Given the description of an element on the screen output the (x, y) to click on. 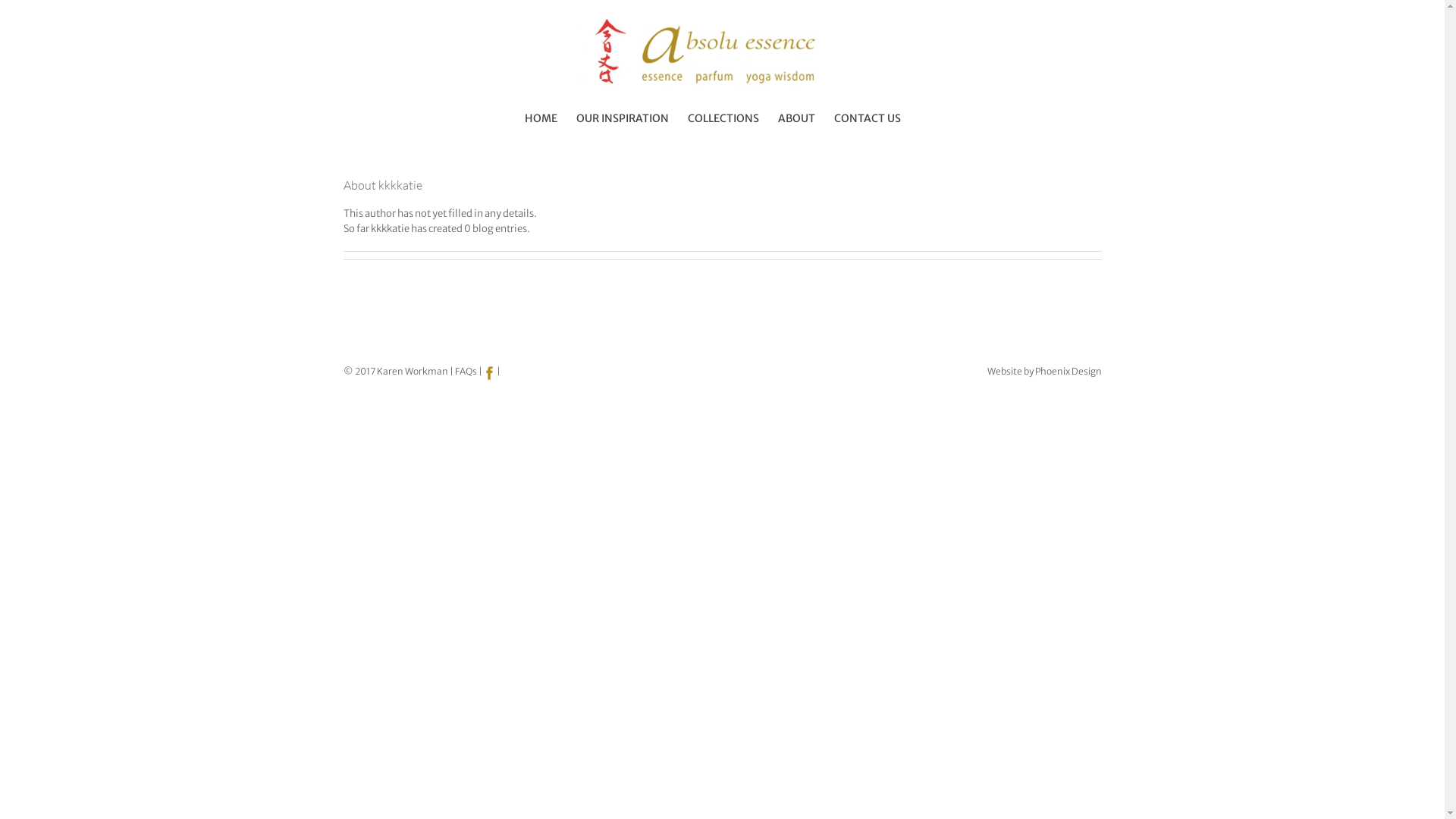
CONTACT US Element type: text (867, 118)
COLLECTIONS Element type: text (723, 118)
ABOUT Element type: text (796, 118)
FAQs Element type: text (465, 370)
Website by Phoenix Design Element type: text (1044, 370)
HOME Element type: text (540, 118)
OUR INSPIRATION Element type: text (622, 118)
